Given the description of an element on the screen output the (x, y) to click on. 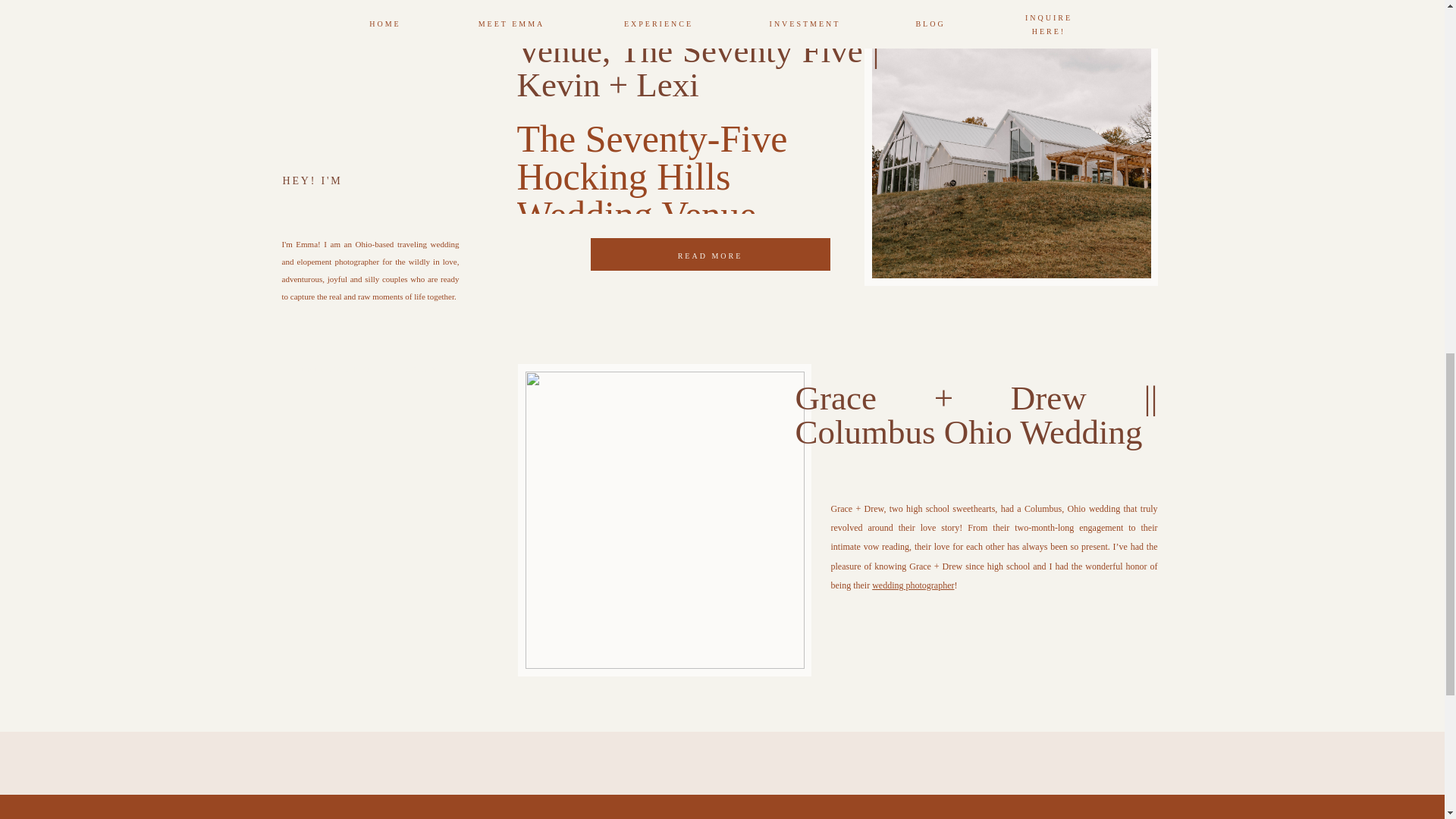
READ MORE (709, 254)
FOLLOW ME ON INSTAGRAM (370, 369)
wedding photographer (912, 584)
READ MORE (940, 633)
